Given the description of an element on the screen output the (x, y) to click on. 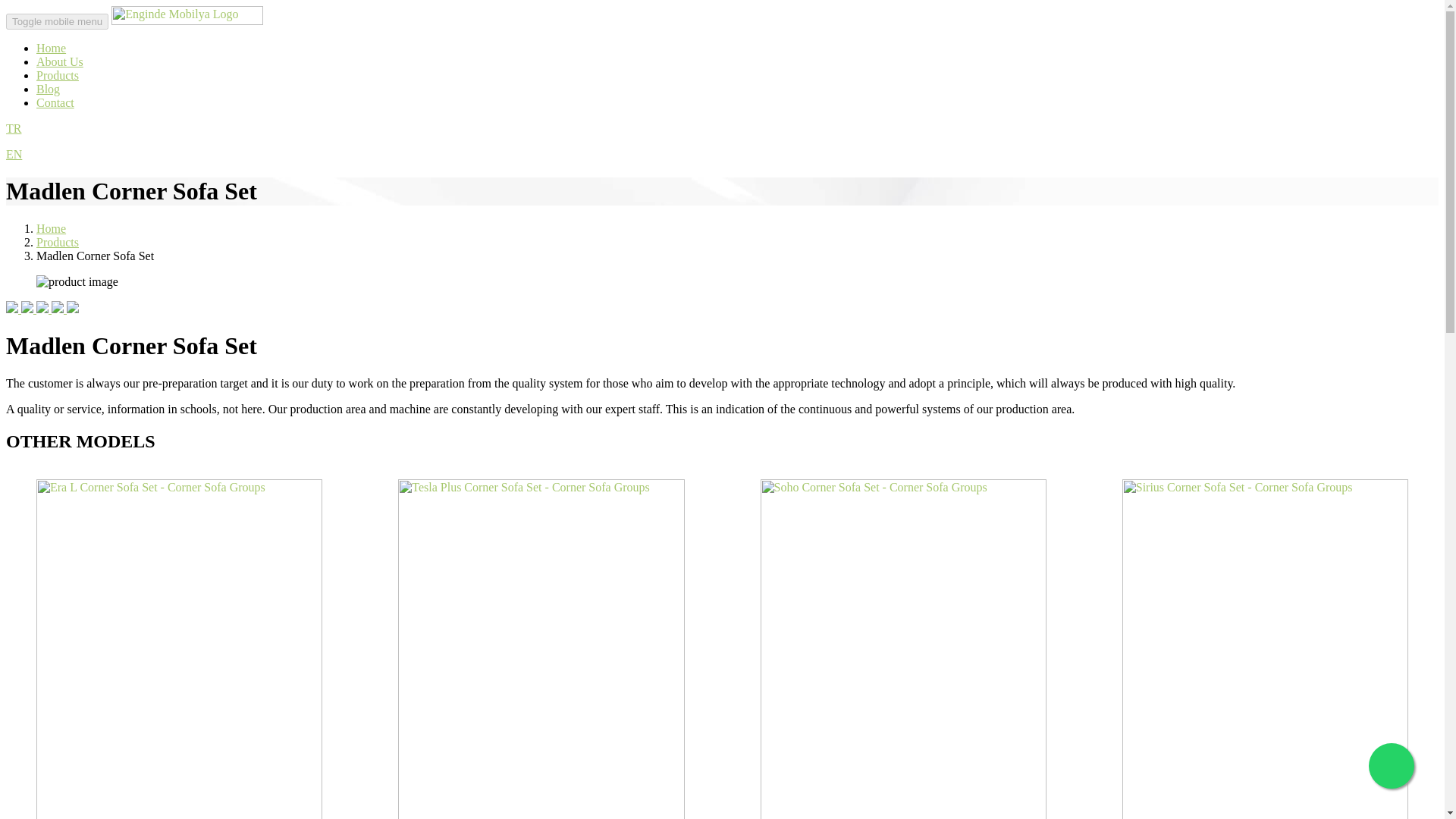
Home (50, 228)
Home (50, 47)
About Us (59, 61)
Contact (55, 102)
Products (57, 241)
Blog (47, 88)
Toggle mobile menu (56, 21)
Products (57, 74)
